Given the description of an element on the screen output the (x, y) to click on. 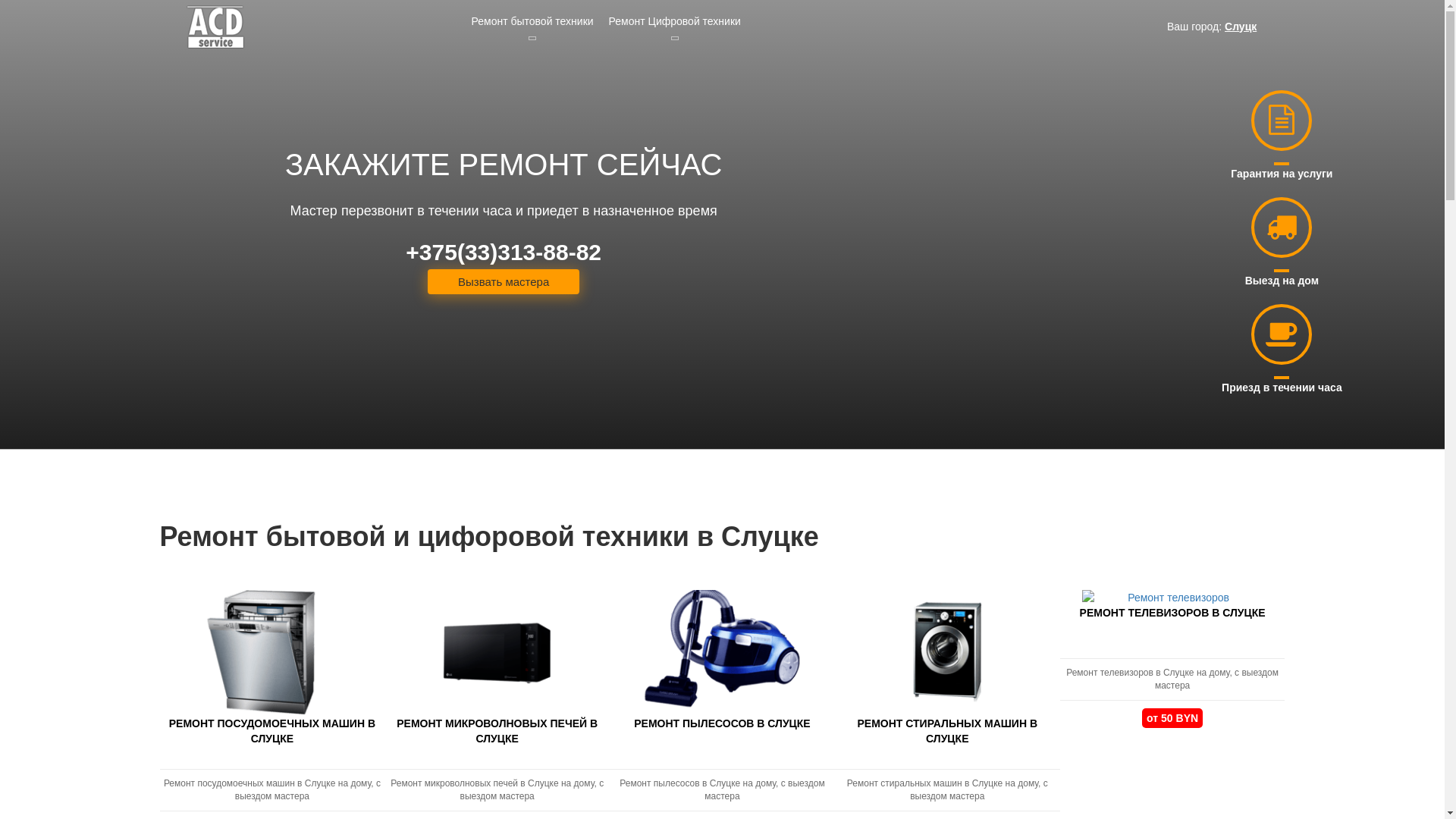
+375(33)313-88-82 Element type: text (503, 252)
